Given the description of an element on the screen output the (x, y) to click on. 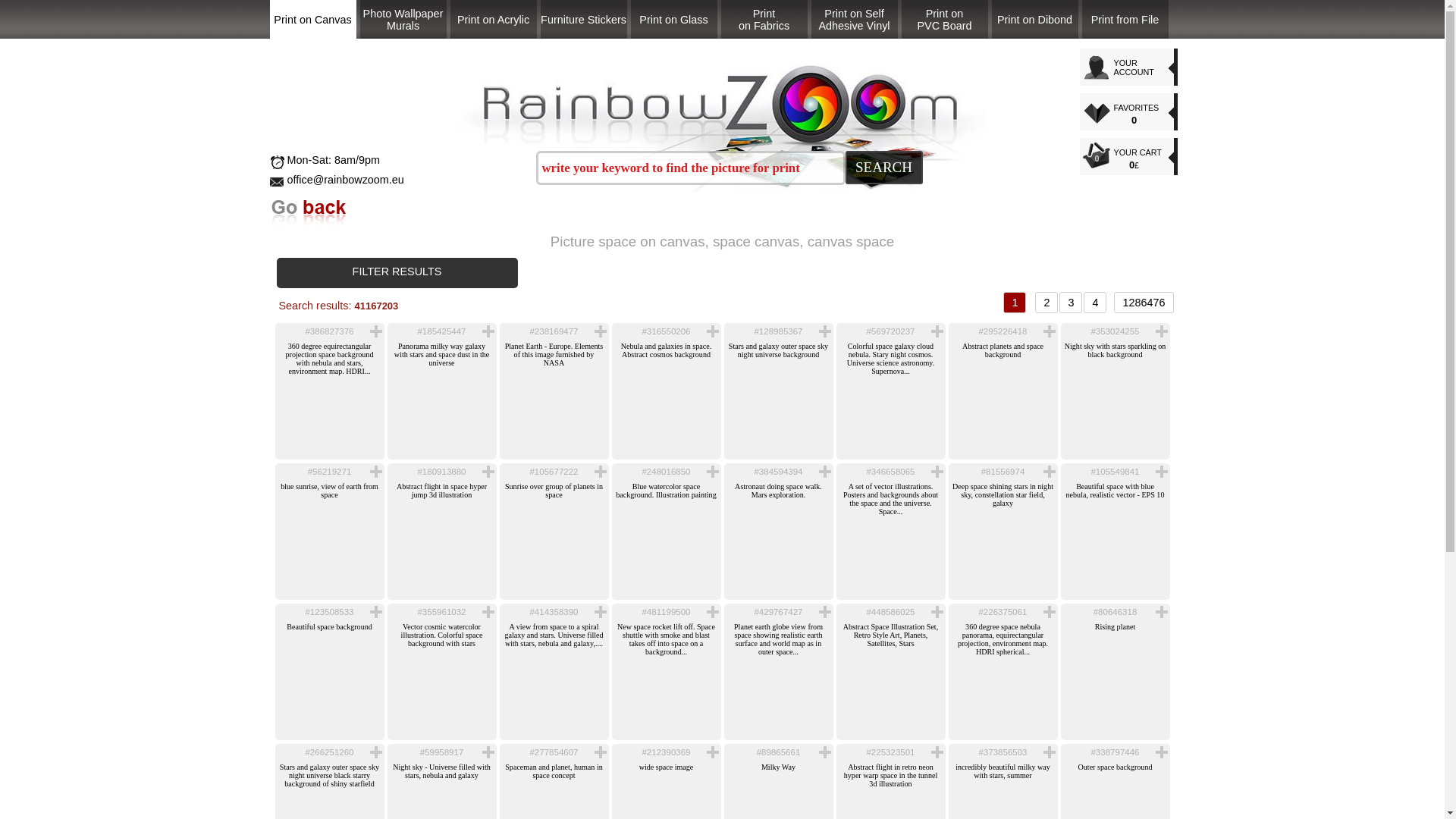
Print on Acrylic (763, 19)
Print from File (493, 19)
print from file, print your own file (1124, 19)
prints on aluminium, print on dibond, dibond prints (1124, 19)
Print on Self Adhesive Vinyl (1034, 19)
Furniture Stickers (854, 19)
wall murals print, print on photo wallpaper murals (583, 19)
print on fabrics, prints on fabric, fabric prints (402, 19)
print on self adhesive vinyl, prints on vinyl, vinyl prints (763, 19)
